Given the description of an element on the screen output the (x, y) to click on. 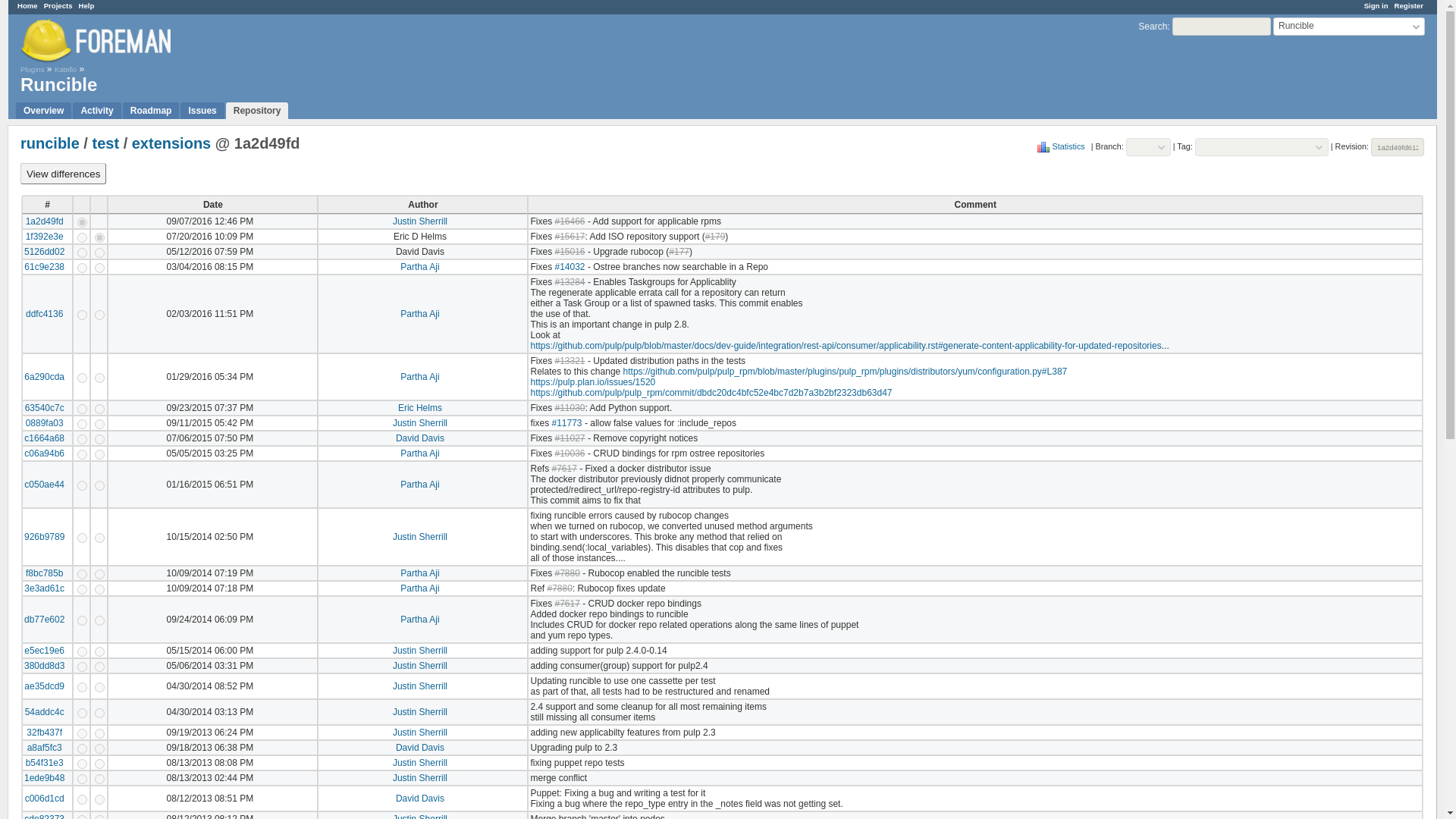
Revision c1664a68 (44, 438)
Activity (96, 110)
Plugins (31, 69)
0889fa03d67e2796f759baf8d7e7edaa31f2a7d9 (82, 424)
Help (86, 5)
5126dd02 (44, 251)
5126dd02d7fbbc443ef947fec4dc27f0b1edbf74 (82, 252)
c1664a680d5221c3b1761d0bb1162245310acd3e (99, 439)
Repository (256, 110)
ddfc4136295a28652a1aeb3b058689662221db5d (82, 315)
Justin Sherrill (419, 221)
63540c7ca6bf950d11ac5b8d2c144e244a53c3ca (82, 409)
Revision 63540c7c (44, 407)
Katello (66, 69)
1a2d49fd6126021c1b25375e1773f77181fec2cc (82, 222)
